Given the description of an element on the screen output the (x, y) to click on. 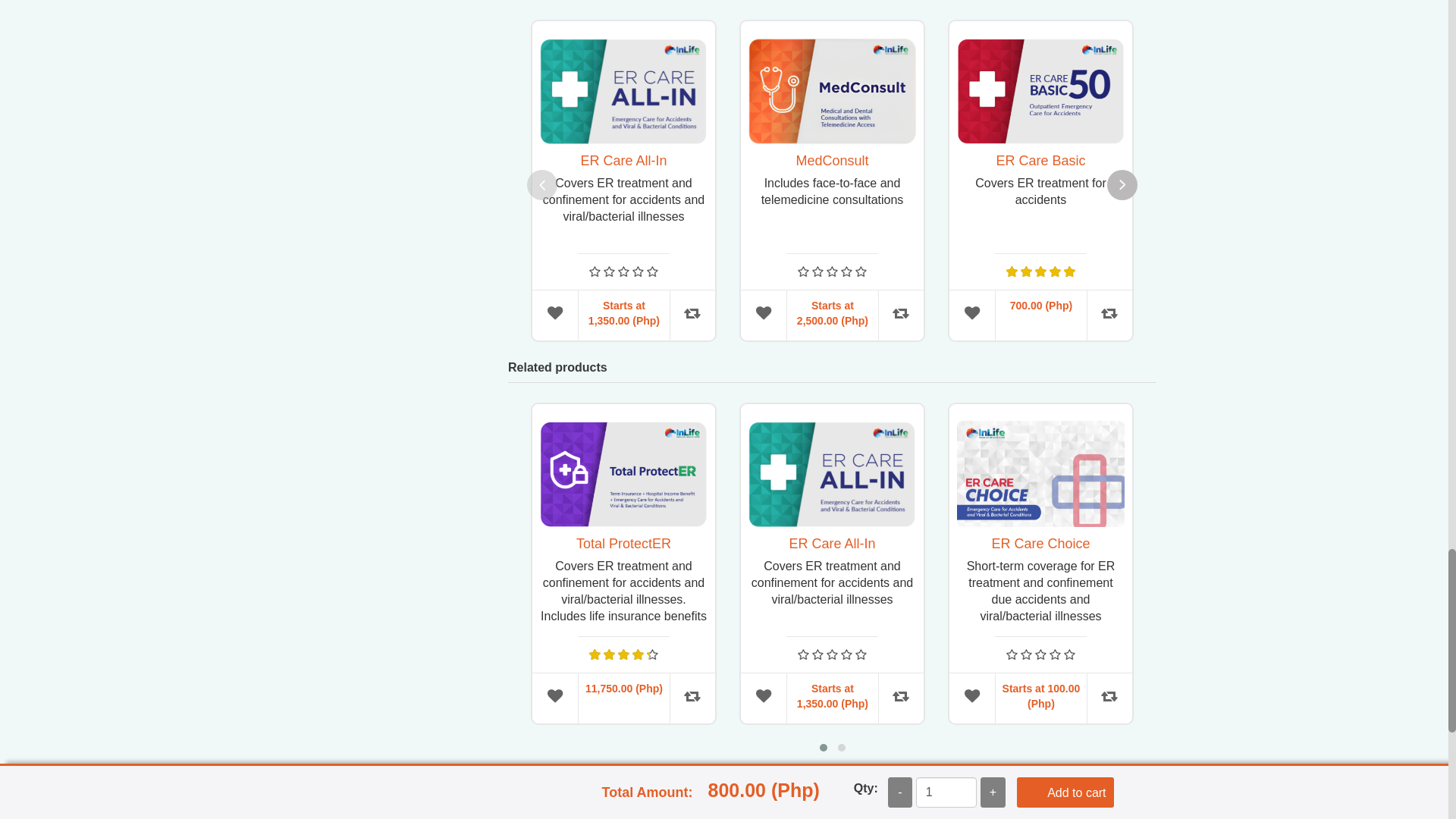
Show details for MedConsult (831, 90)
Show details for ER Care All-In (623, 90)
Show details for ER Care All-In (623, 87)
Show details for MedConsult (831, 87)
